Given the description of an element on the screen output the (x, y) to click on. 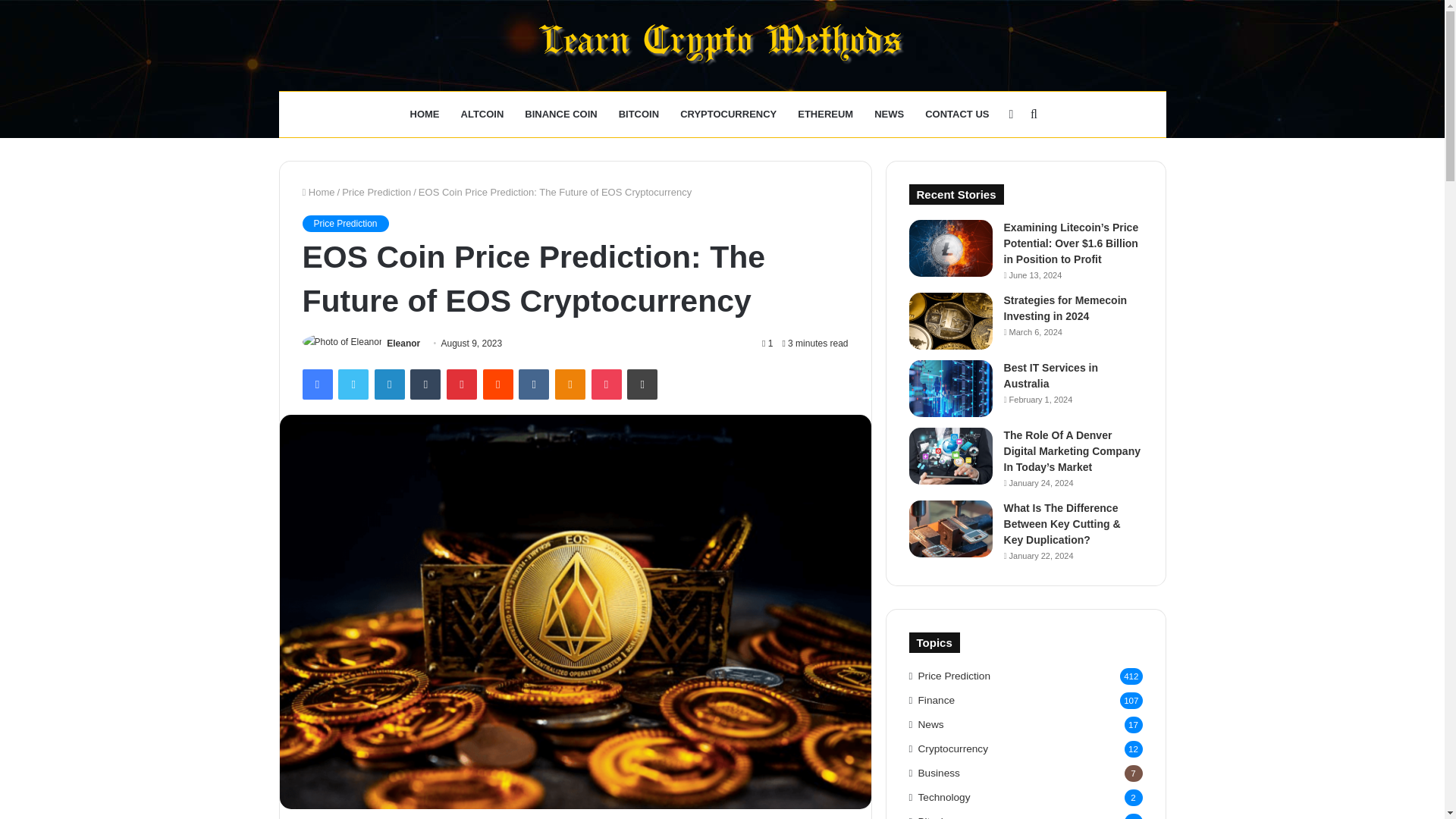
BITCOIN (638, 114)
Eleanor (403, 343)
Facebook (316, 384)
HOME (423, 114)
Home (317, 192)
Odnoklassniki (569, 384)
Pocket (606, 384)
ALTCOIN (482, 114)
CRYPTOCURRENCY (728, 114)
CONTACT US (956, 114)
Tumblr (425, 384)
Odnoklassniki (569, 384)
Learn Crypto Methods (722, 44)
Pinterest (461, 384)
LinkedIn (389, 384)
